Given the description of an element on the screen output the (x, y) to click on. 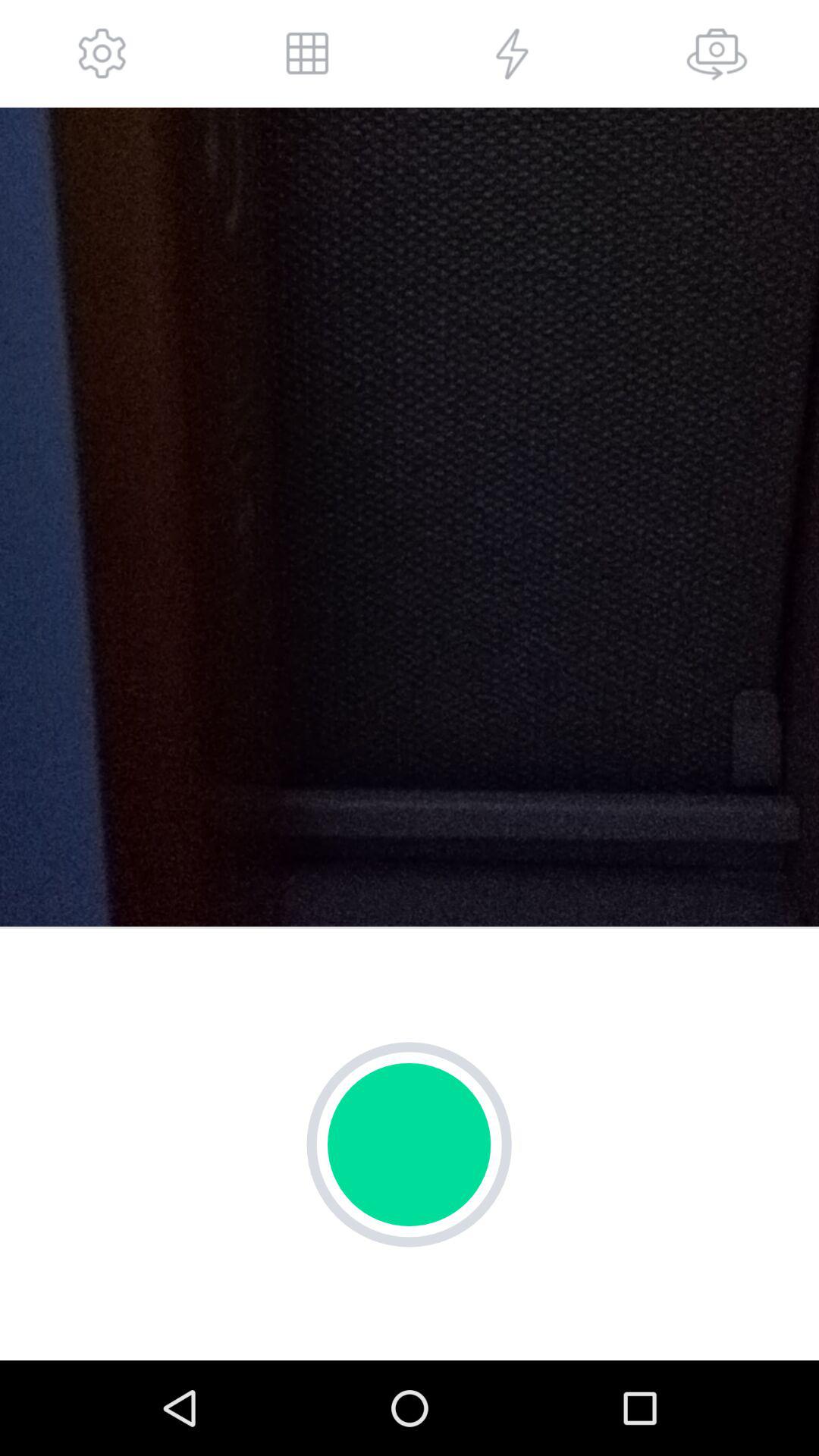
record (408, 1144)
